Given the description of an element on the screen output the (x, y) to click on. 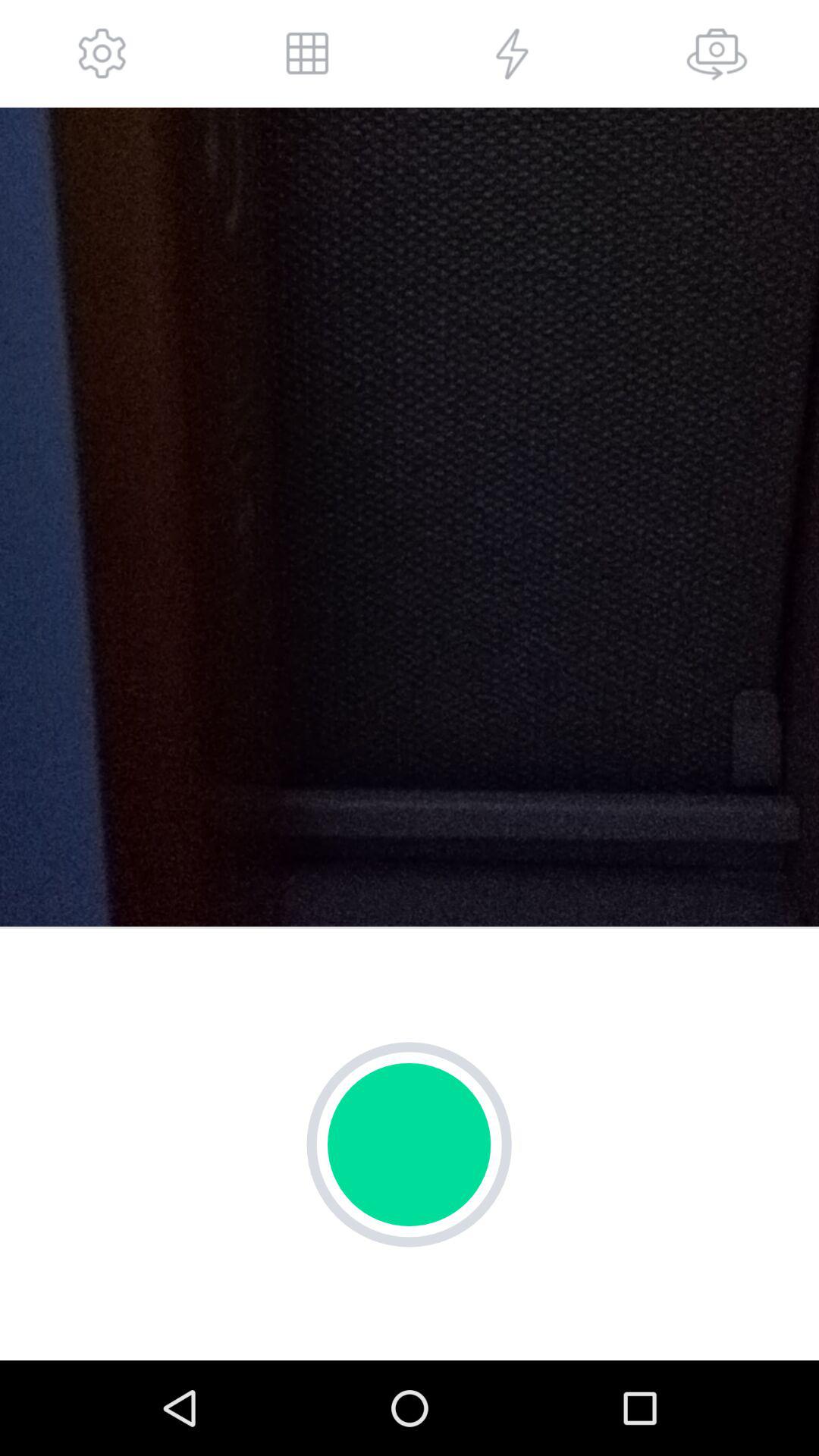
record (408, 1144)
